Given the description of an element on the screen output the (x, y) to click on. 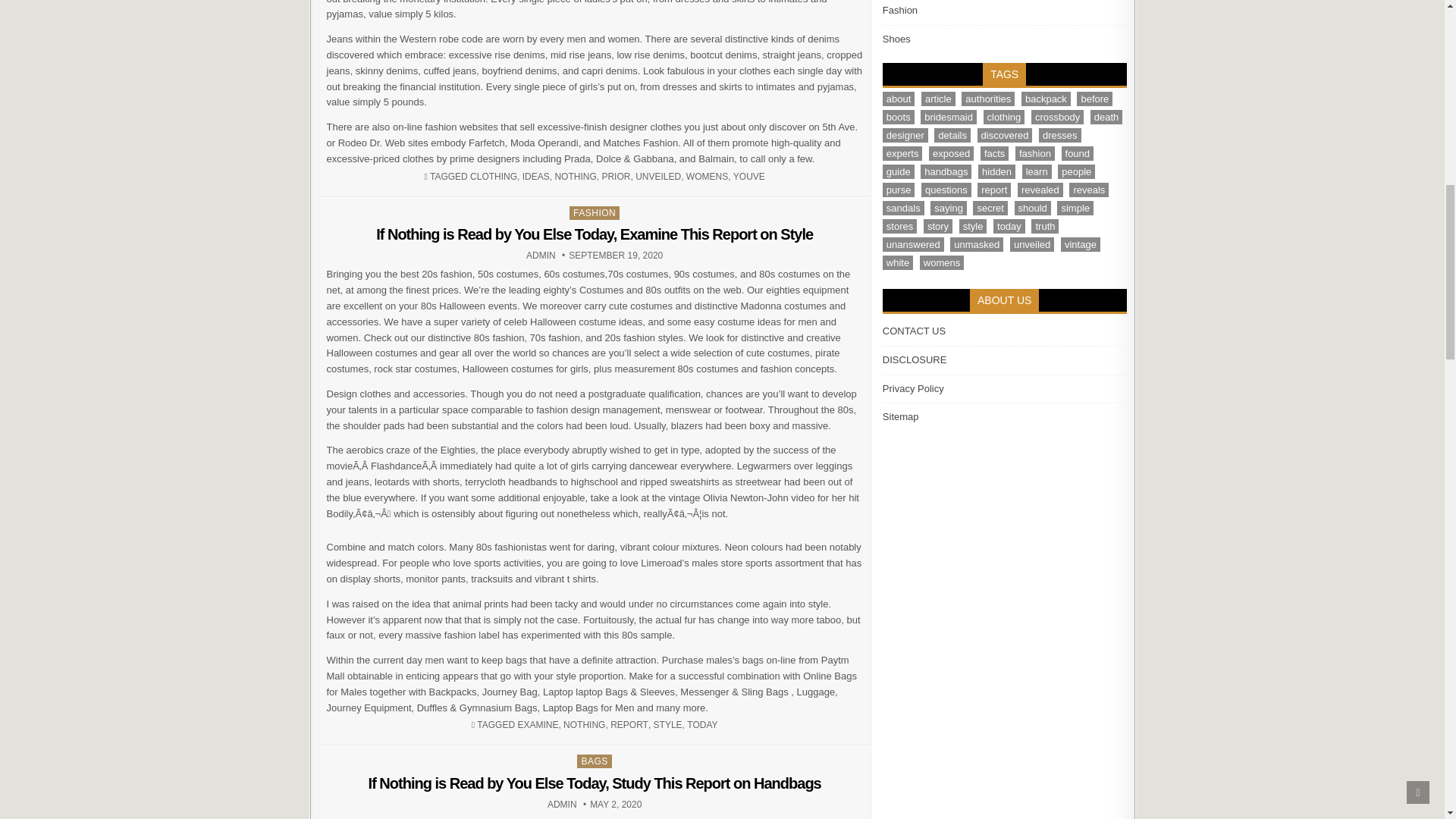
FASHION (594, 213)
YOUVE (749, 175)
EXAMINE (536, 724)
CLOTHING (493, 175)
UNVEILED (657, 175)
REPORT (628, 724)
STYLE (561, 804)
NOTHING (667, 724)
